Given the description of an element on the screen output the (x, y) to click on. 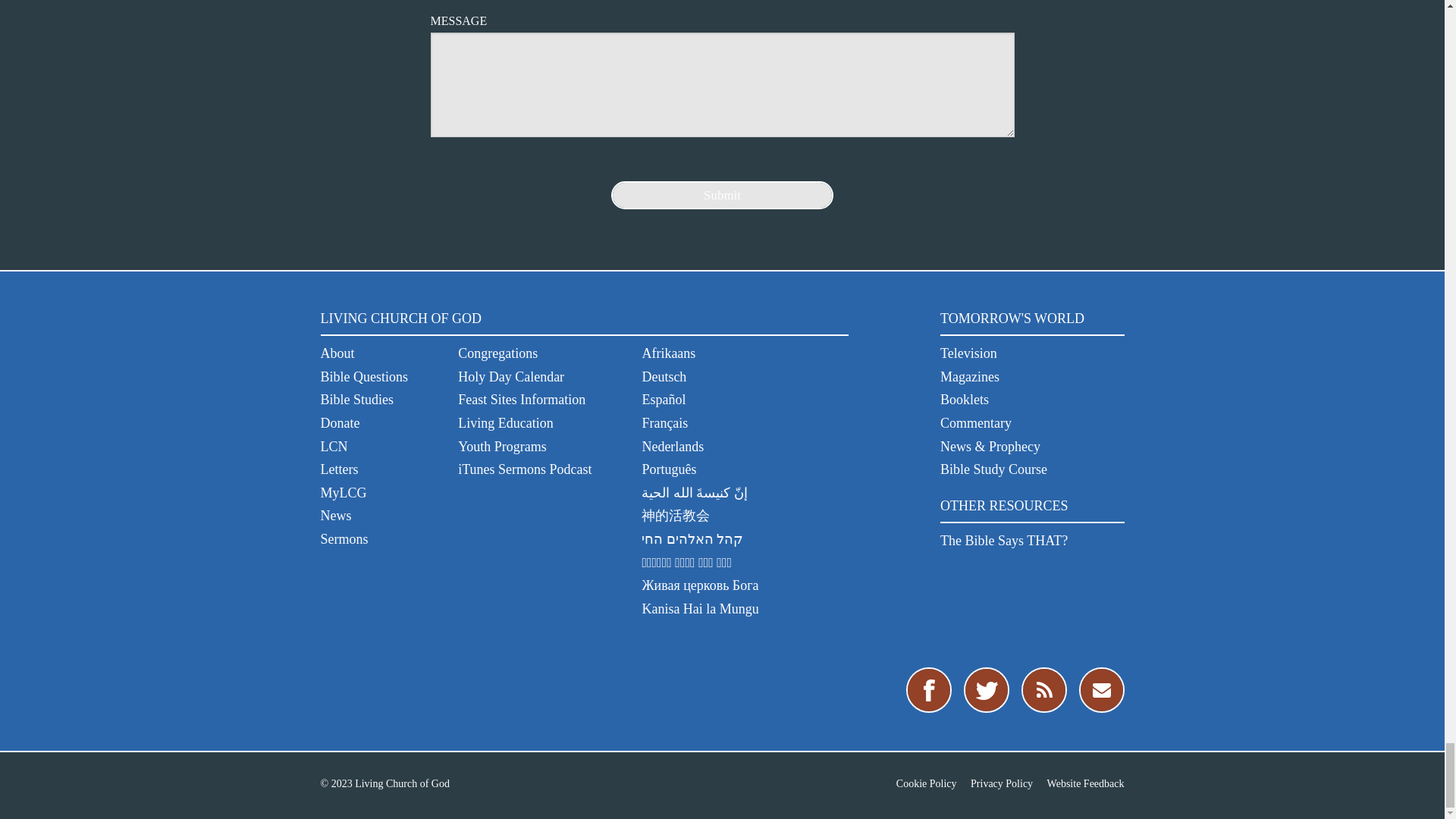
Submit (721, 194)
Give feedback on the new website! (1085, 783)
Living Education Website (505, 422)
